Given the description of an element on the screen output the (x, y) to click on. 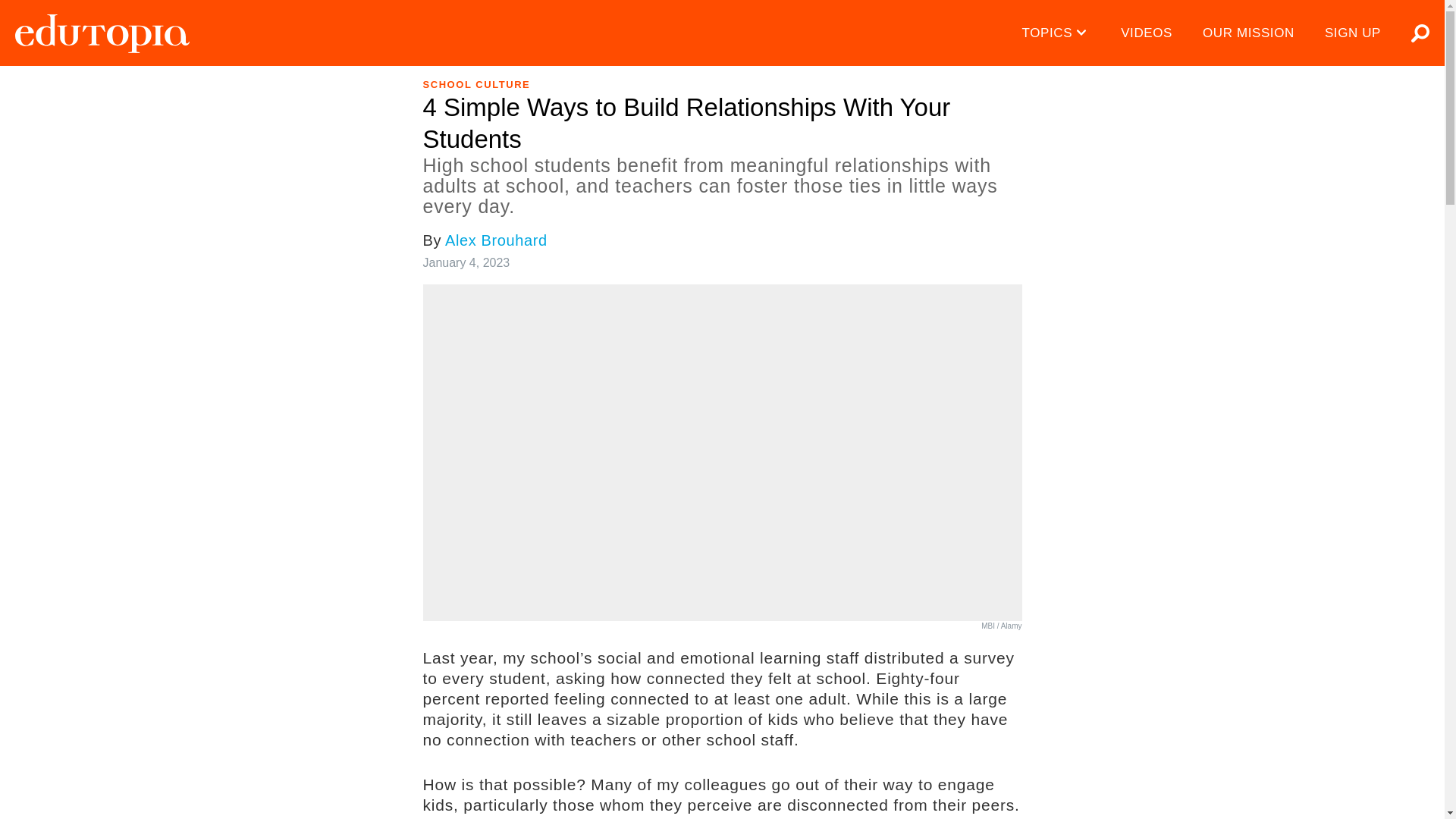
TOPICS (1056, 33)
SIGN UP (1352, 33)
OUR MISSION (1248, 33)
VIDEOS (1146, 33)
Edutopia (101, 33)
Edutopia (101, 33)
Alex Brouhard (496, 239)
